Given the description of an element on the screen output the (x, y) to click on. 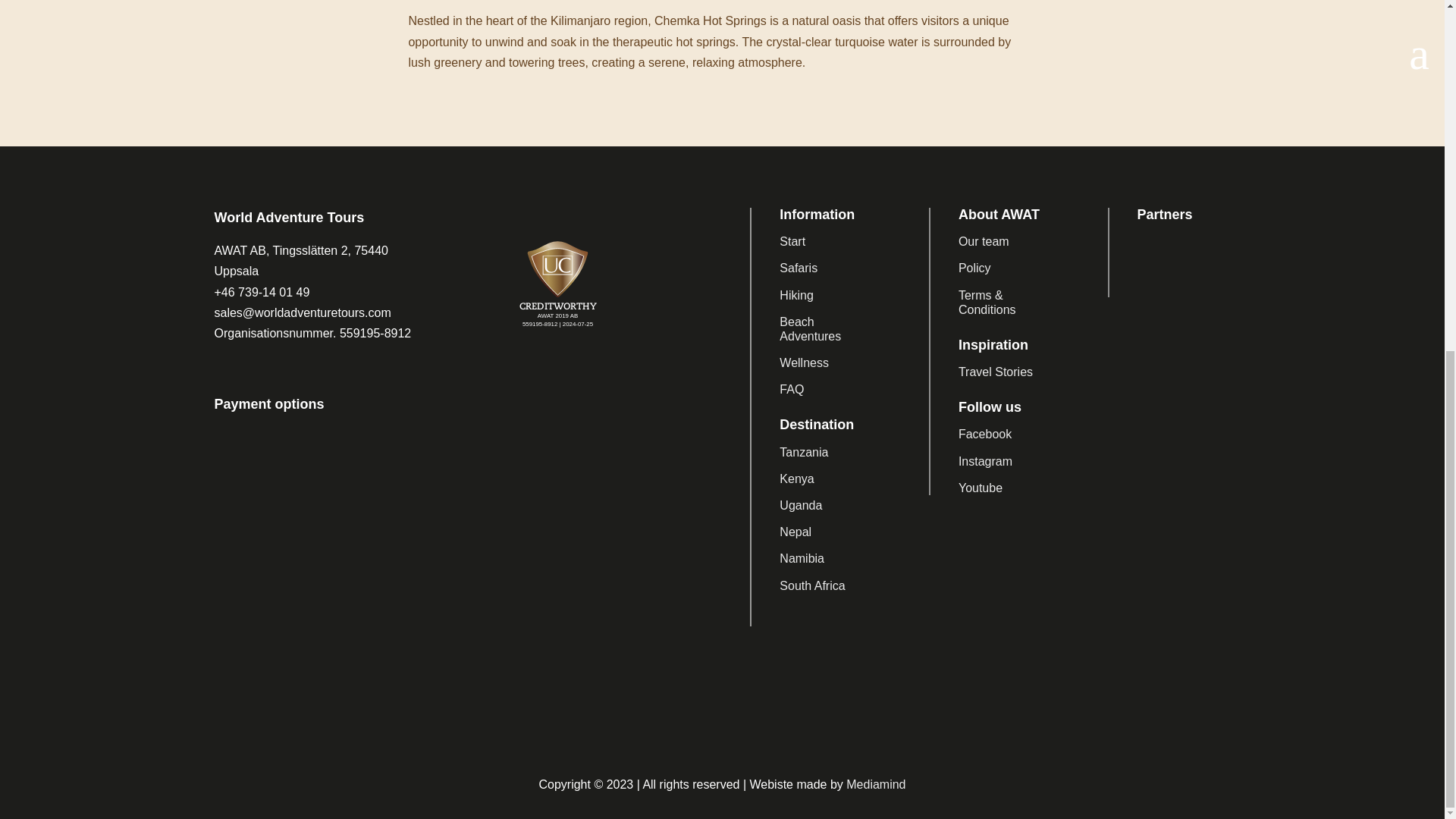
Kenya (795, 478)
Beach Adventures (809, 329)
Wellness (803, 362)
Safaris (797, 267)
Facebook (984, 433)
Policy (974, 267)
Namibia (801, 558)
Uganda (800, 504)
Travel Stories (995, 371)
FAQ (790, 389)
Start (791, 241)
Hiking (795, 295)
Nepal (794, 531)
South Africa (811, 585)
Tanzania (803, 451)
